Given the description of an element on the screen output the (x, y) to click on. 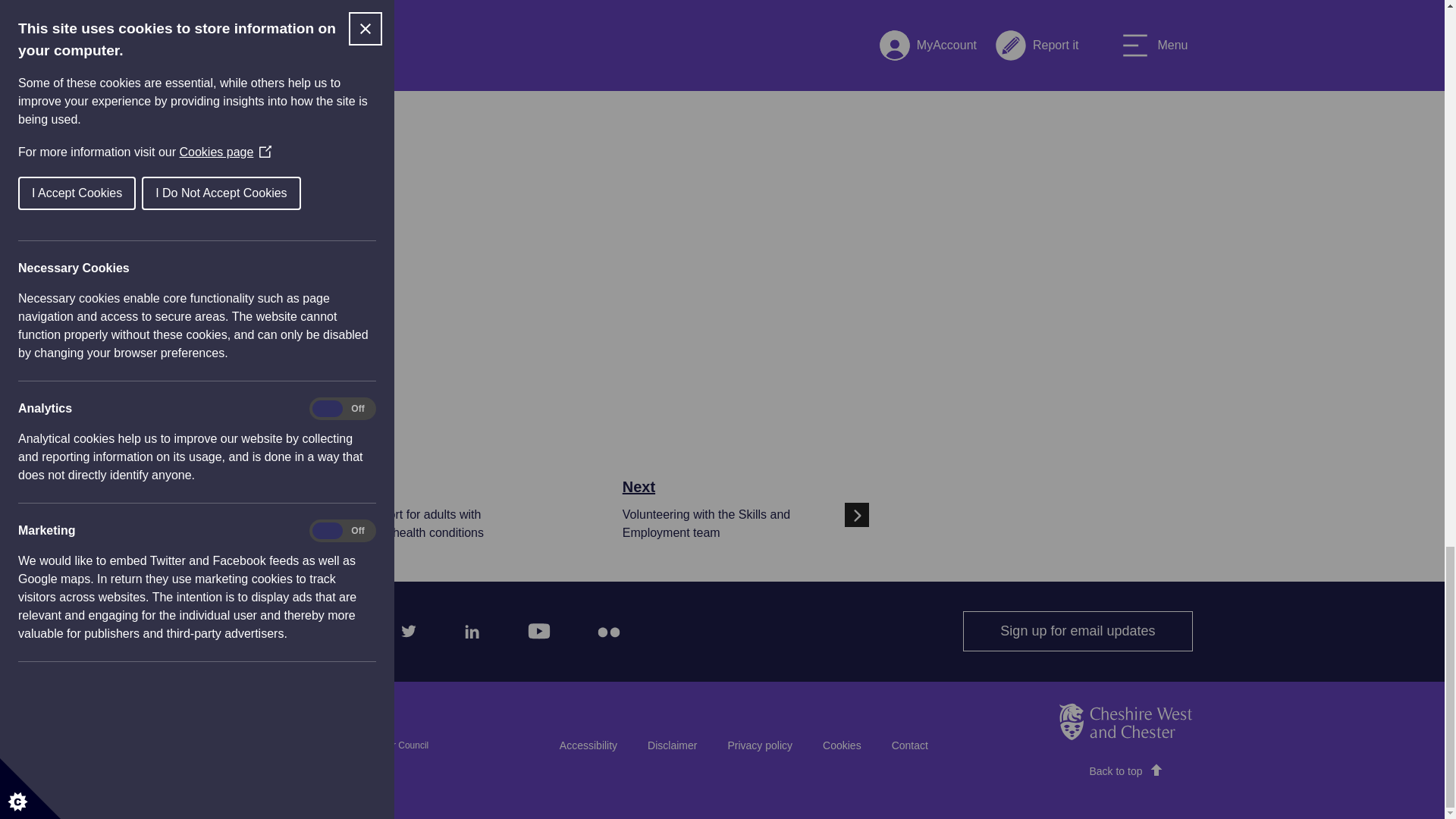
Privacy policy (759, 745)
Twitter (404, 627)
Flickr (603, 626)
Back to top (1125, 771)
Instagram (340, 627)
YouTube (533, 626)
Disclaimer (672, 745)
Facebook (1077, 630)
Supported Employment (277, 627)
Accessibility (468, 627)
